Given the description of an element on the screen output the (x, y) to click on. 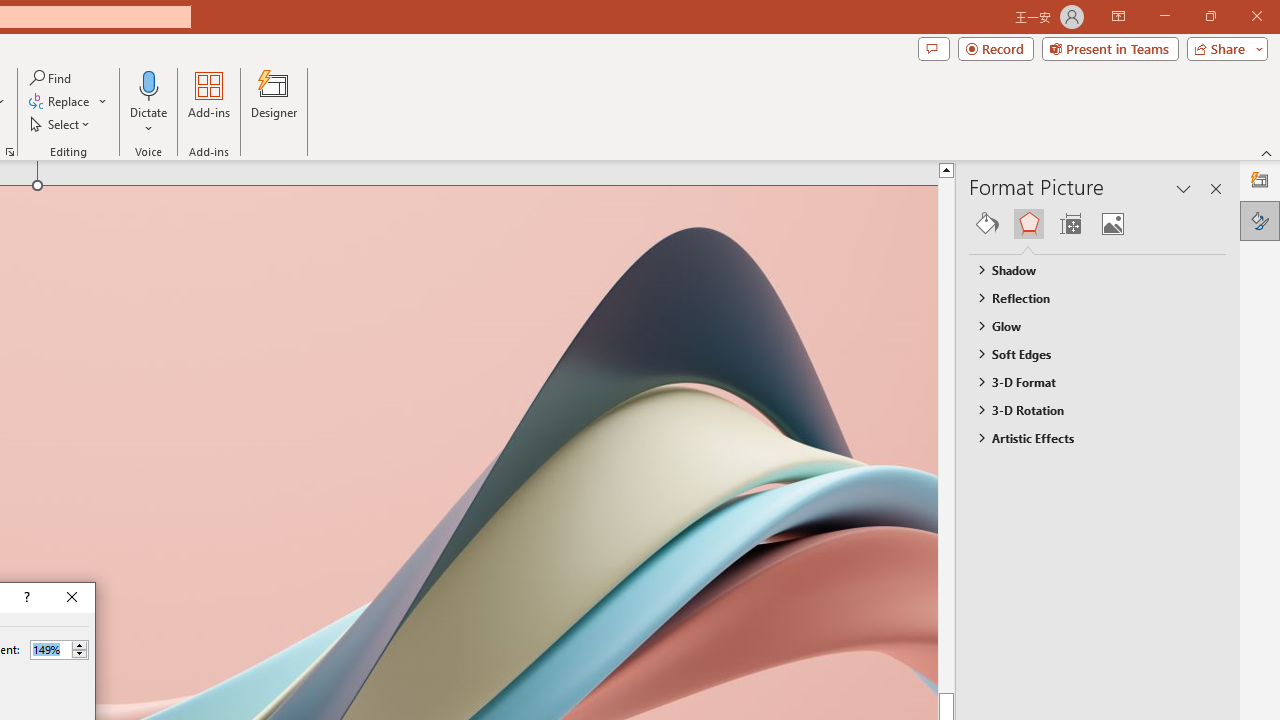
Dictate (149, 102)
Fill & Line (987, 223)
Replace... (60, 101)
Soft Edges (1088, 353)
Class: NetUIImage (980, 437)
Select (61, 124)
Find... (51, 78)
Picture (1112, 223)
Percent (59, 650)
